Given the description of an element on the screen output the (x, y) to click on. 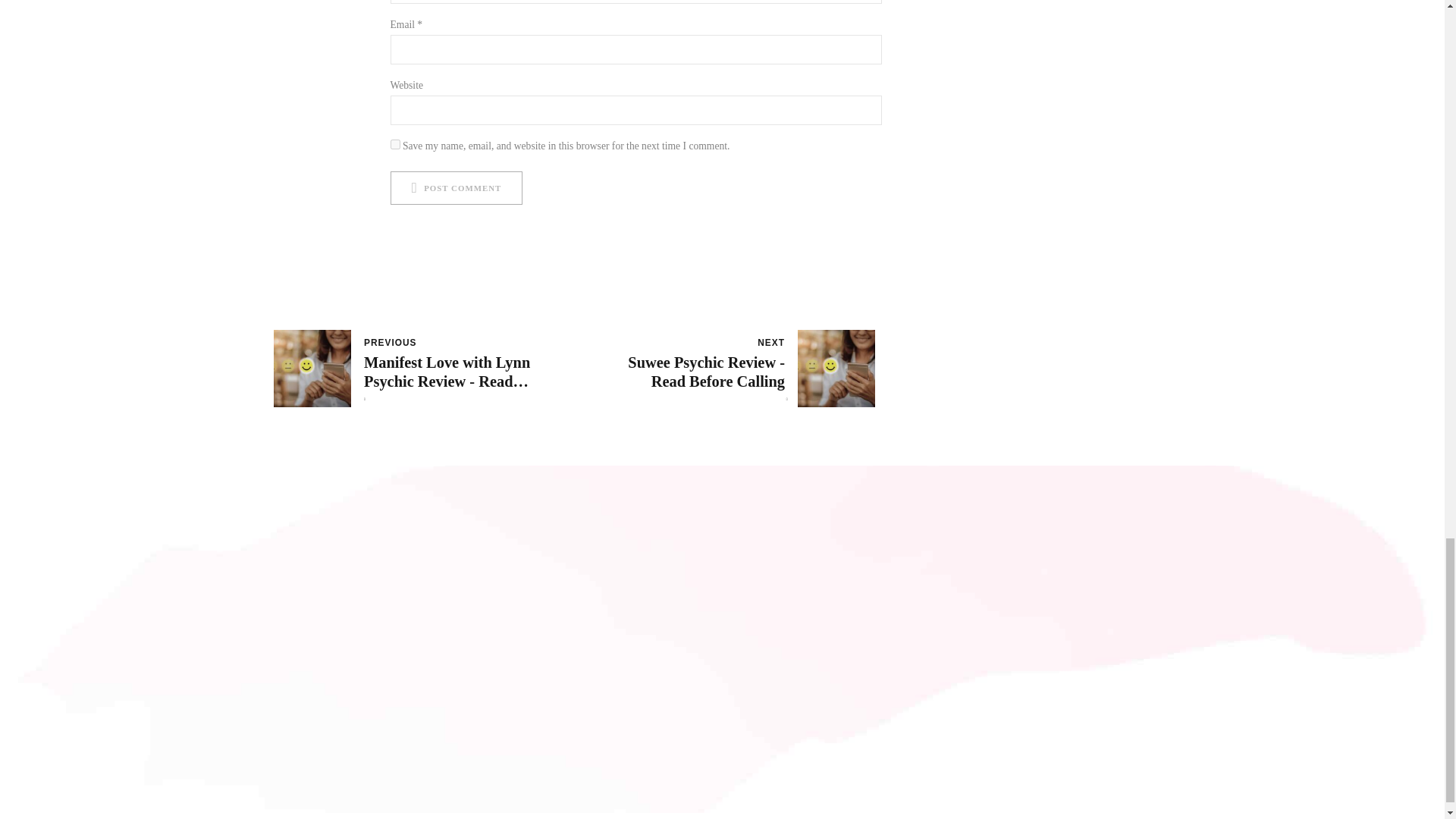
yes (394, 144)
